Given the description of an element on the screen output the (x, y) to click on. 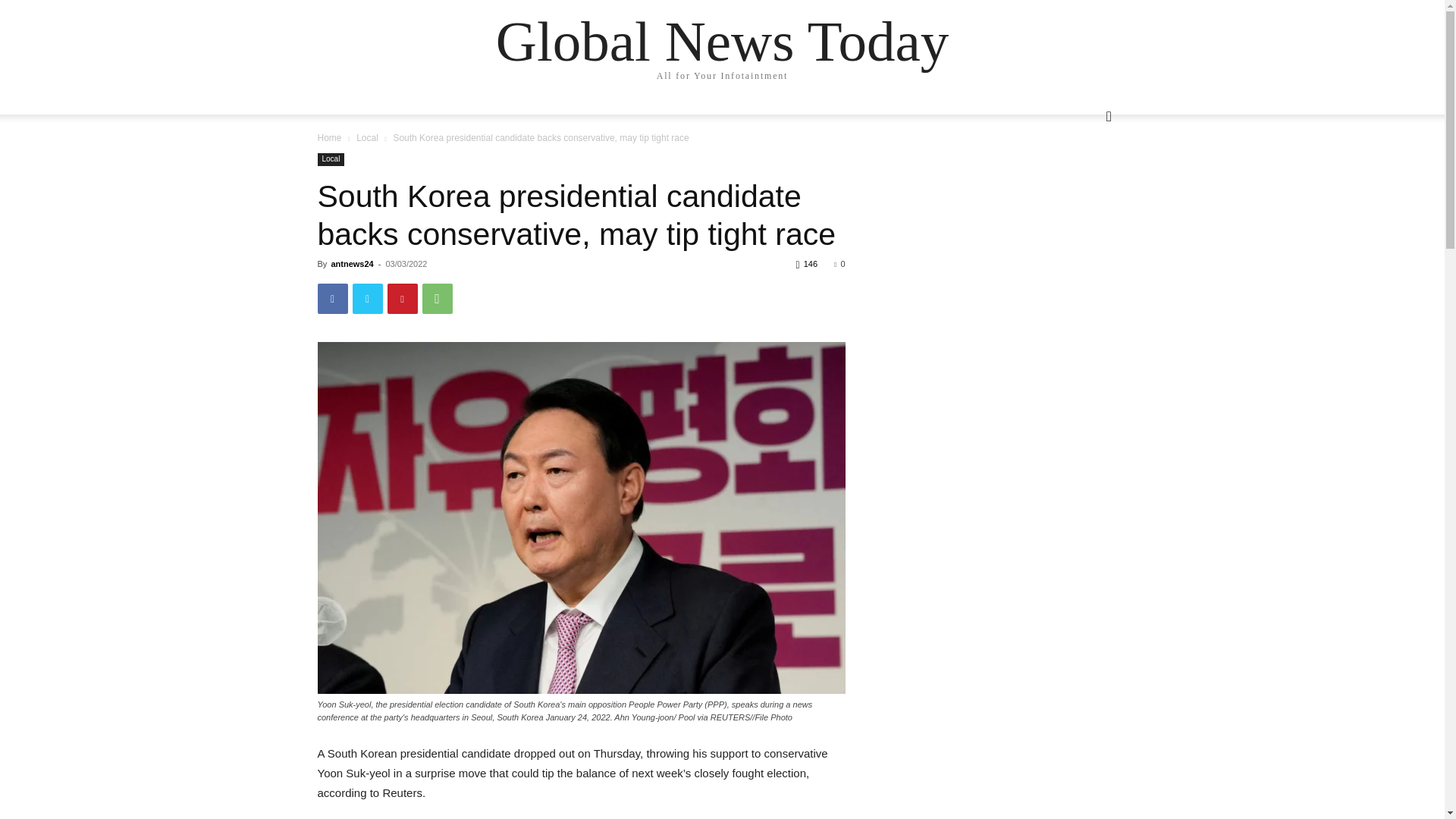
View all posts in Local (367, 137)
Twitter (366, 298)
Search (1085, 177)
0 (839, 263)
Local (330, 159)
Facebook (332, 298)
WhatsApp (436, 298)
Global News Today (722, 41)
antnews24 (351, 263)
Home (328, 137)
Pinterest (401, 298)
Local (367, 137)
